Given the description of an element on the screen output the (x, y) to click on. 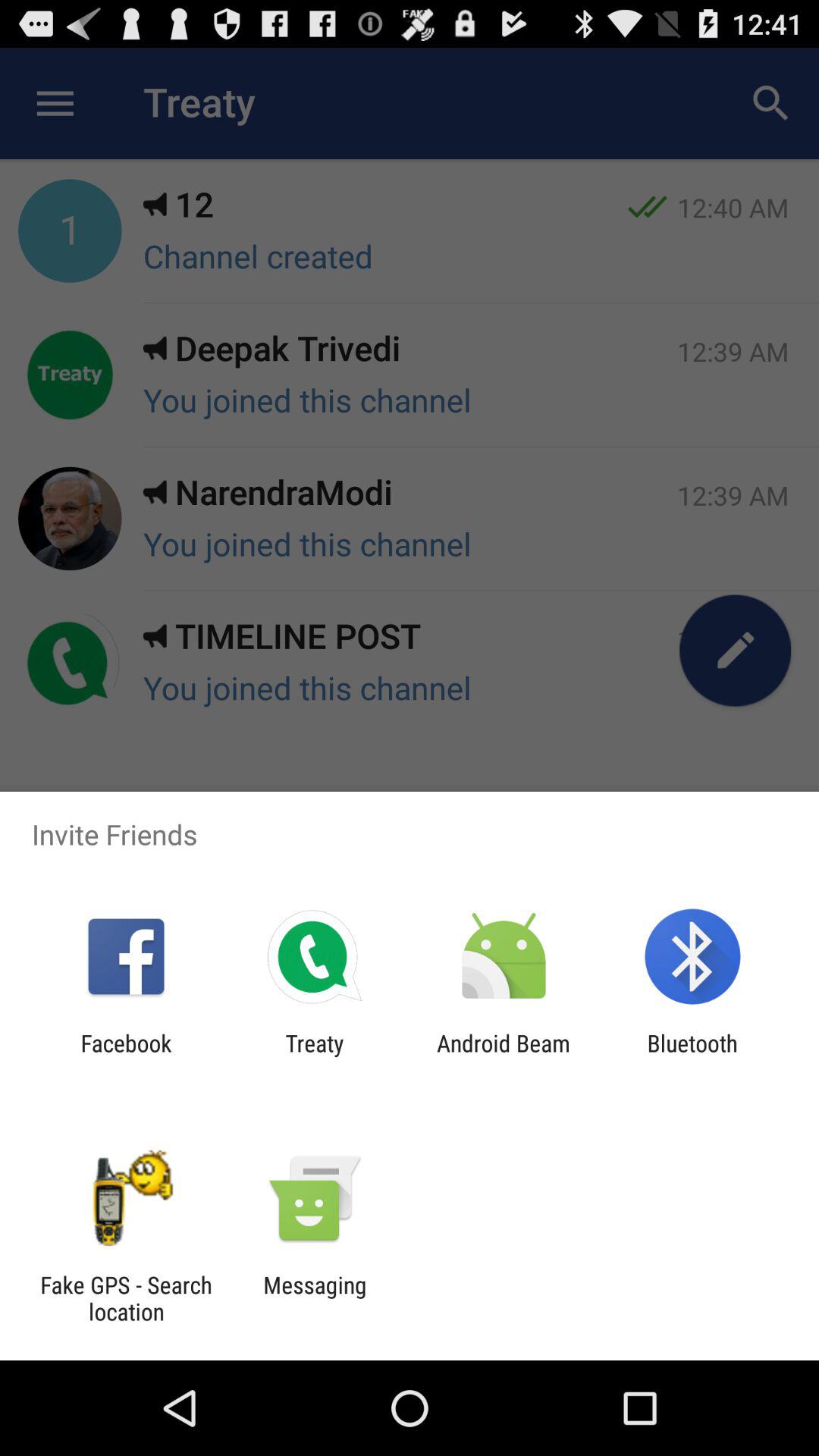
turn on the icon next to the fake gps search app (314, 1298)
